Given the description of an element on the screen output the (x, y) to click on. 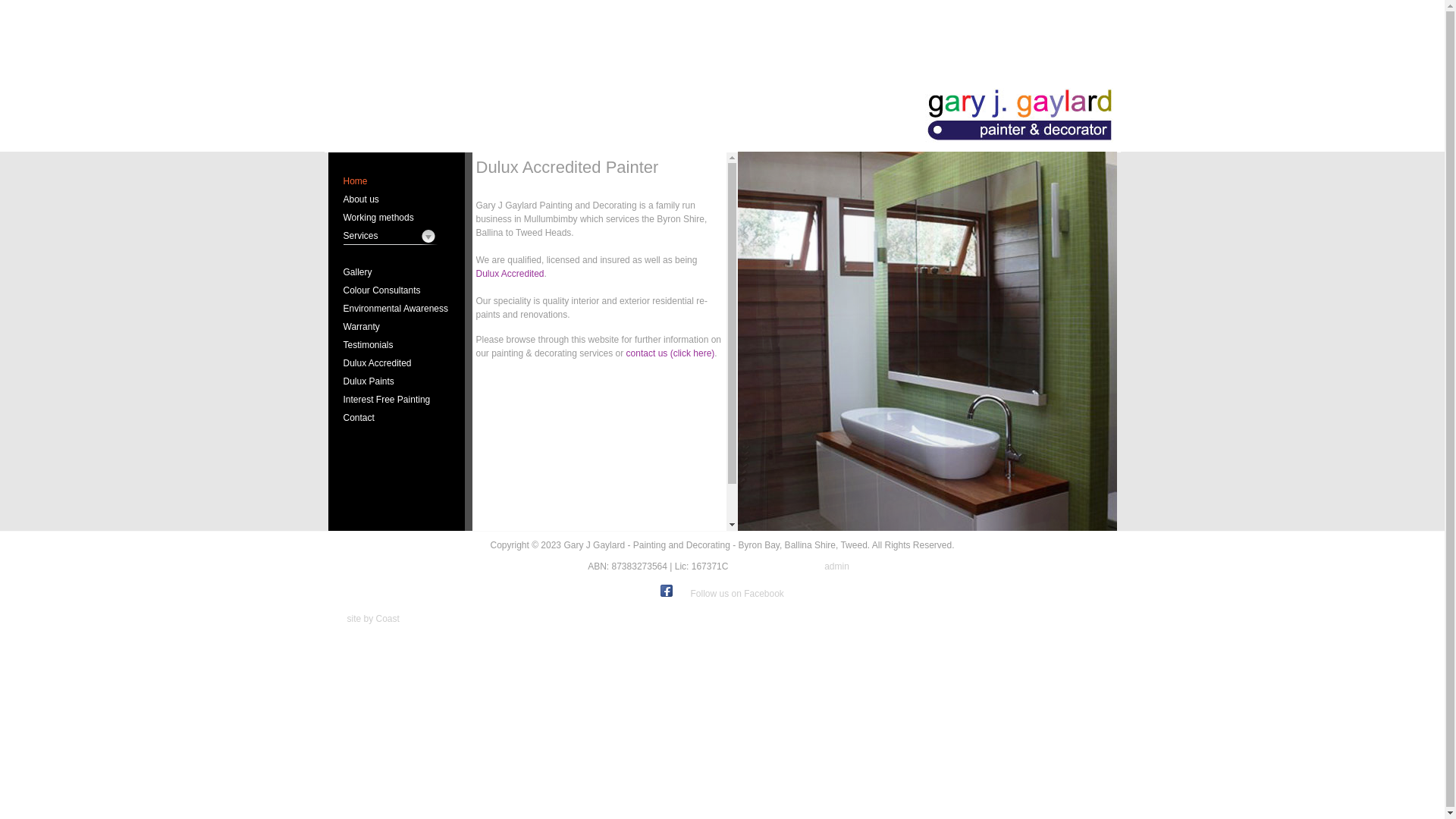
Working methods Element type: text (397, 217)
Follow us on Facebook Element type: text (736, 593)
About us Element type: text (397, 199)
Environmental Awareness Element type: text (397, 308)
Testimonials Element type: text (397, 344)
Contact Element type: text (397, 417)
Dulux Accredited Element type: text (397, 363)
 admin Element type: text (835, 566)
Dulux Paints Element type: text (397, 381)
Warranty Element type: text (397, 326)
Interest Free Painting Element type: text (397, 399)
contact us (click here) Element type: text (670, 353)
site by Coast Element type: text (373, 618)
Home Element type: text (397, 181)
Colour Consultants Element type: text (397, 290)
Gallery Element type: text (397, 272)
Dulux Accredited Element type: text (510, 273)
